Given the description of an element on the screen output the (x, y) to click on. 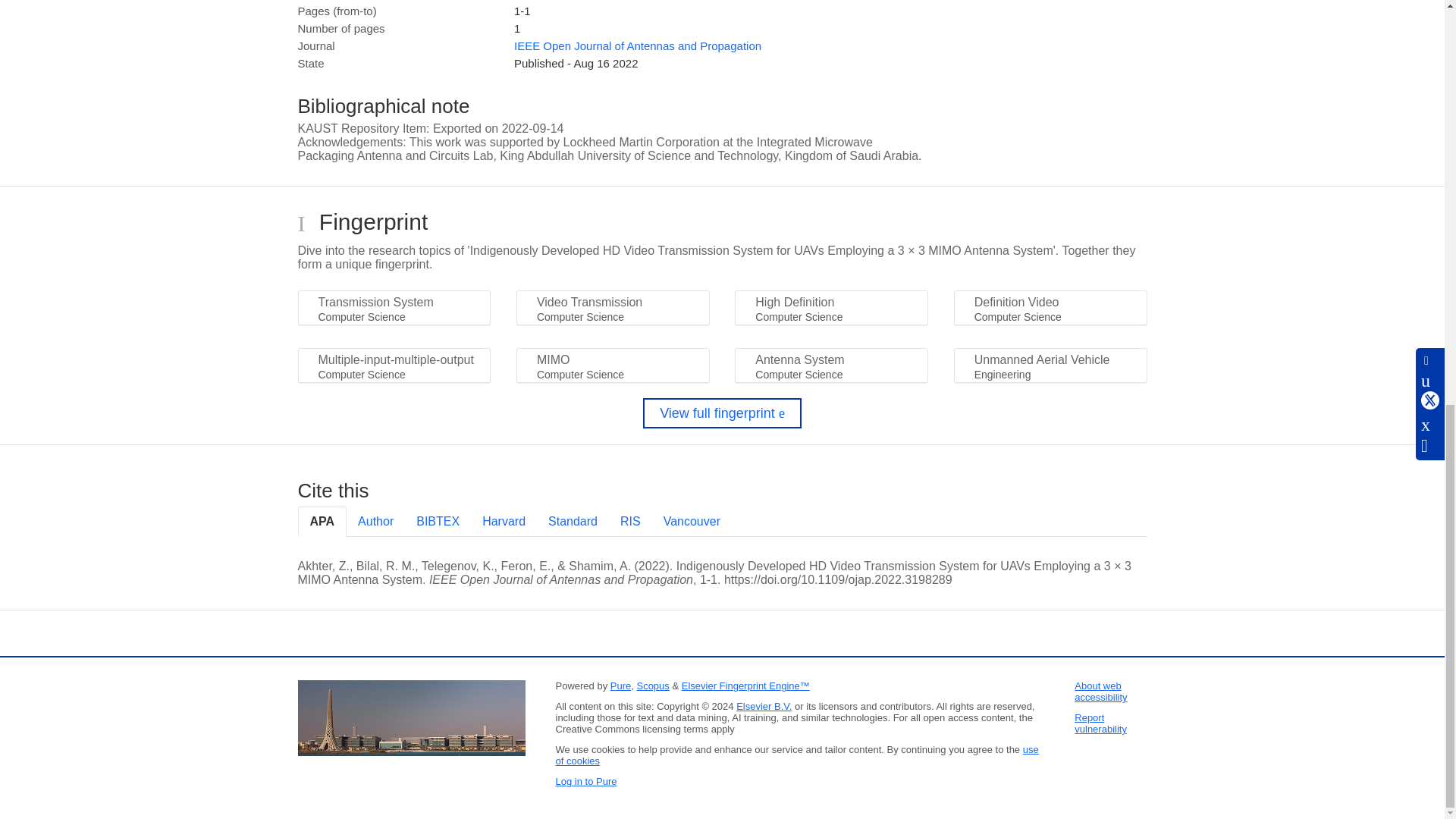
IEEE Open Journal of Antennas and Propagation (637, 45)
View full fingerprint (722, 413)
